Given the description of an element on the screen output the (x, y) to click on. 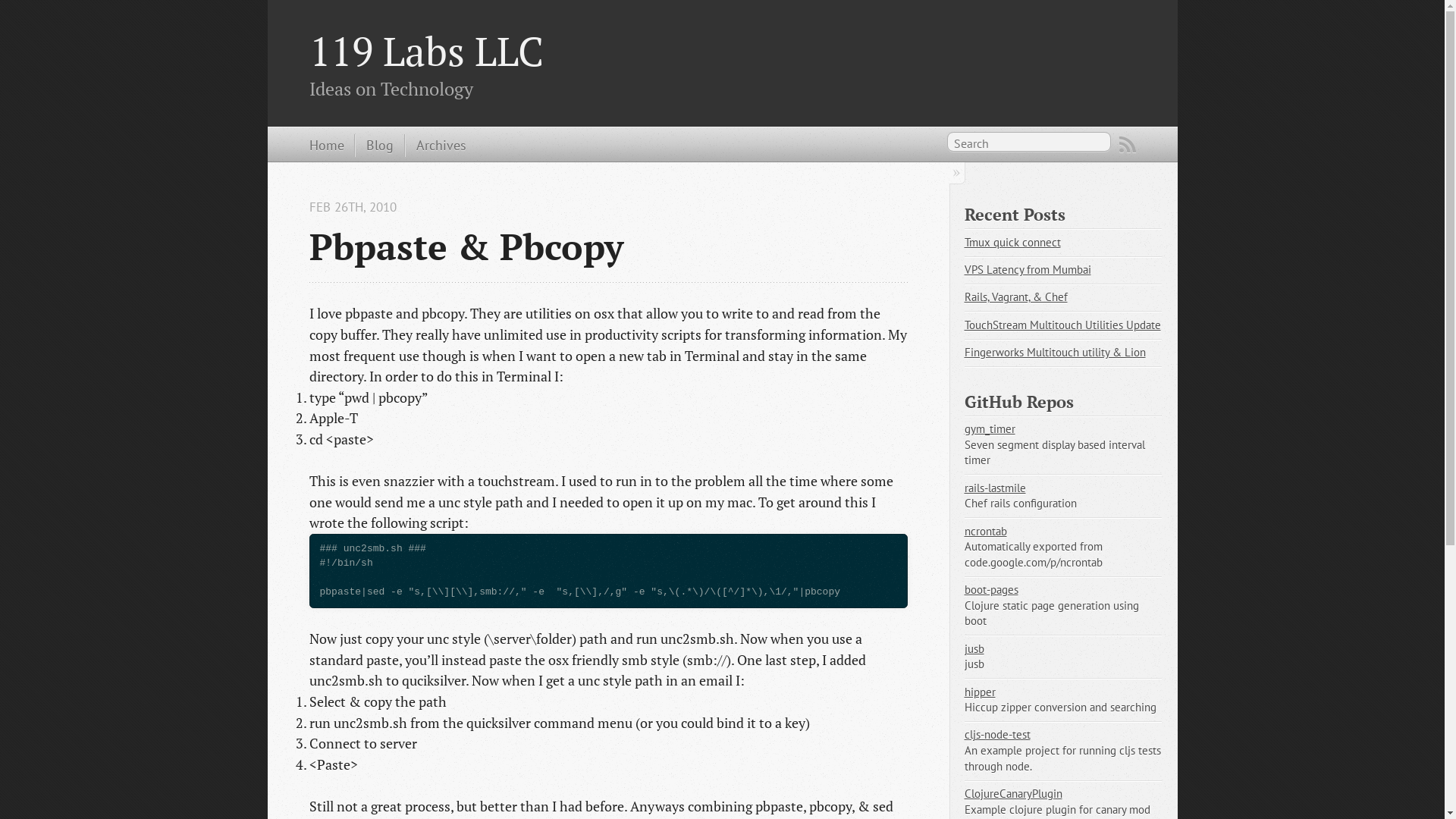
rails-lastmile Element type: text (995, 487)
ncrontab Element type: text (985, 531)
jusb Element type: text (974, 648)
boot-pages Element type: text (991, 589)
Rails, Vagrant, & Chef Element type: text (1015, 296)
hipper Element type: text (979, 691)
Blog Element type: text (374, 145)
Tmux quick connect Element type: text (1012, 242)
Archives Element type: text (435, 145)
ClojureCanaryPlugin Element type: text (1013, 793)
gym_timer Element type: text (989, 428)
119 Labs LLC Element type: text (426, 50)
Home Element type: text (326, 145)
RSS Element type: text (1127, 144)
TouchStream Multitouch Utilities Update Element type: text (1062, 324)
cljs-node-test Element type: text (997, 734)
Fingerworks Multitouch utility & Lion Element type: text (1054, 352)
VPS Latency from Mumbai Element type: text (1027, 269)
